Given the description of an element on the screen output the (x, y) to click on. 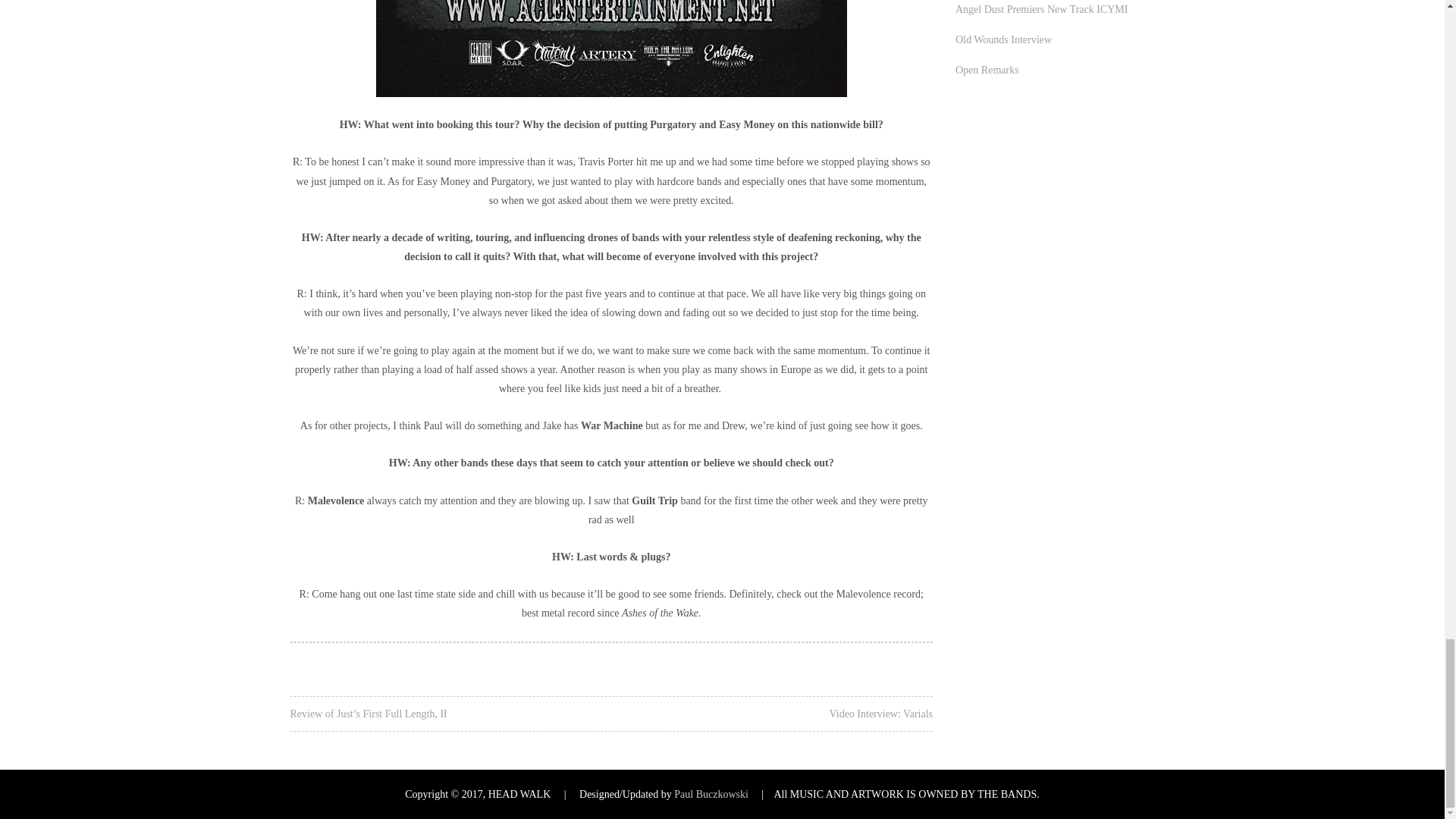
Video Interview: Varials (880, 713)
